Given the description of an element on the screen output the (x, y) to click on. 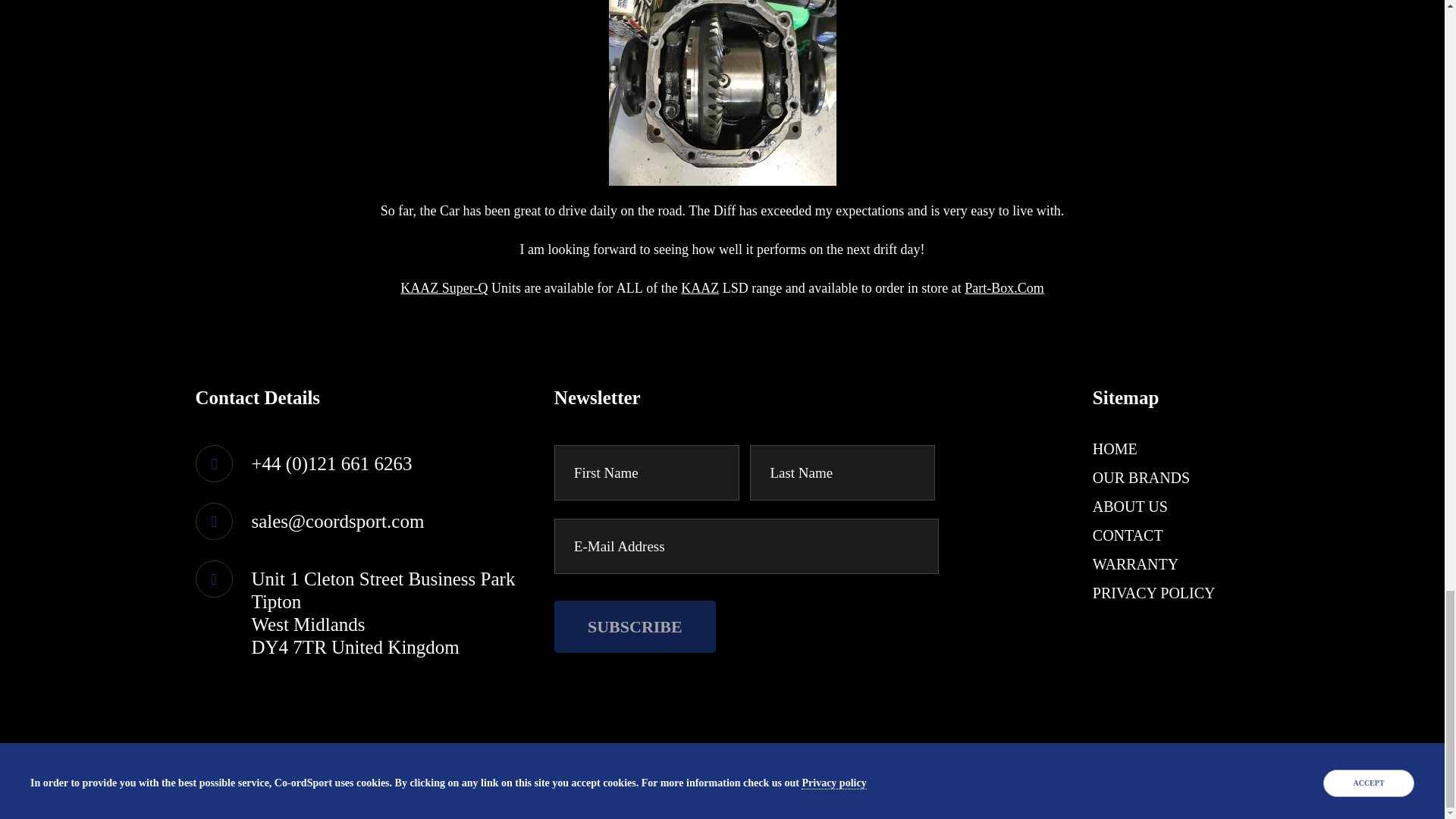
OUR BRANDS (1141, 477)
SUBSCRIBE (635, 626)
KAAZ (700, 287)
Part-Box.Com (1003, 287)
KAAZ Super-Q (443, 287)
HOME (1115, 449)
